Given the description of an element on the screen output the (x, y) to click on. 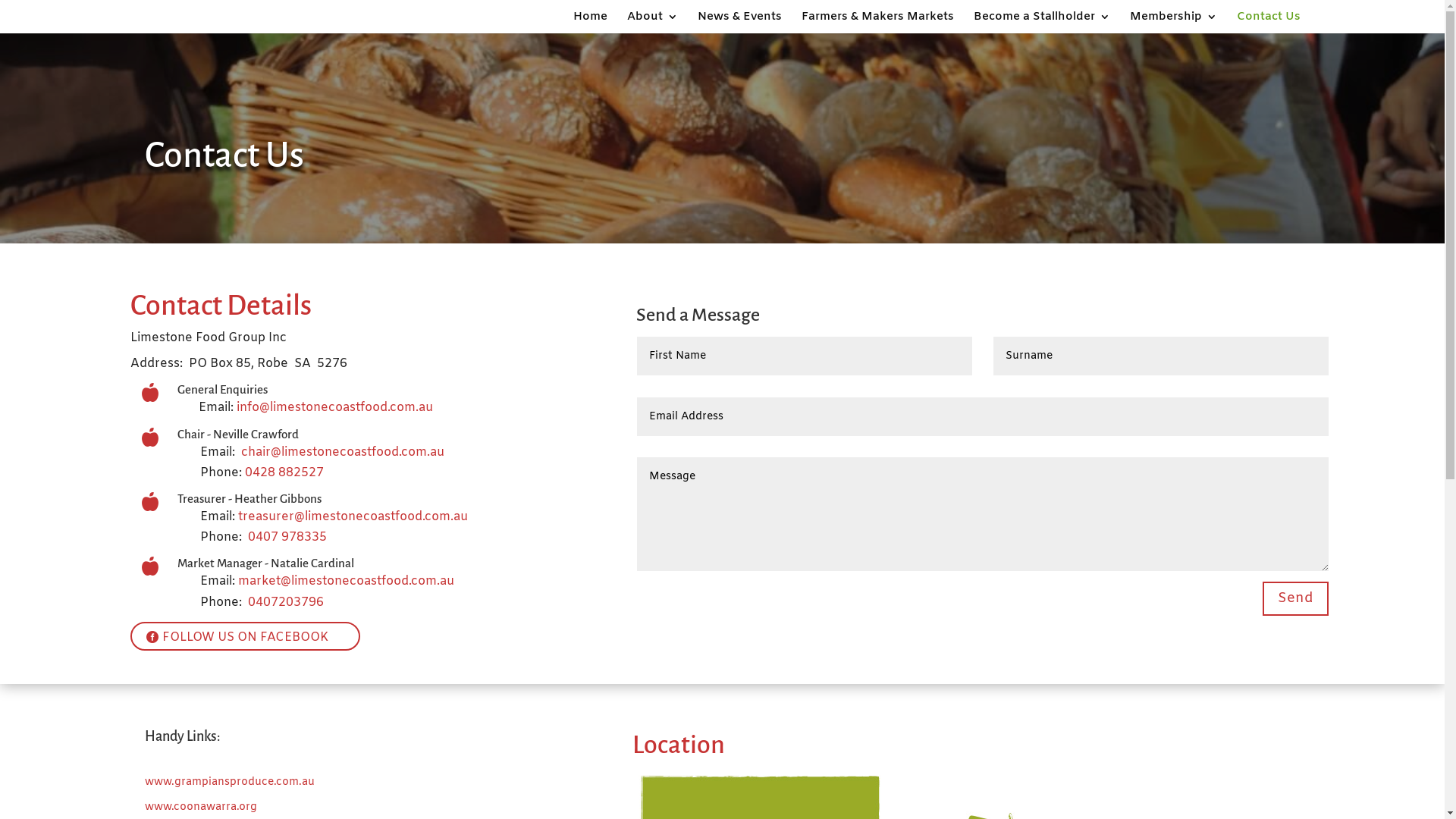
Contact Us Element type: text (1267, 22)
0428 882527 Element type: text (283, 472)
treasurer@limestonecoastfood.com.au Element type: text (352, 516)
Farmers & Makers Markets Element type: text (876, 22)
Market Manager - Natalie Cardinal Element type: text (265, 562)
Membership Element type: text (1173, 22)
www.coonawarra.org Element type: text (200, 807)
About Element type: text (651, 22)
market@limestonecoastfood.com.au Element type: text (346, 581)
0407203796 Element type: text (285, 602)
chair@limestonecoastfood.com.au Element type: text (342, 452)
Chair - Neville Crawford Element type: text (237, 433)
Treasurer - Heather Gibbons Element type: text (249, 498)
Home Element type: text (590, 22)
0407 978335 Element type: text (286, 537)
Send Element type: text (1295, 598)
www.grampiansproduce.com.au Element type: text (228, 782)
General Enquiries Element type: text (222, 388)
News & Events Element type: text (739, 22)
FOLLOW US ON FACEBOOK Element type: text (245, 635)
Become a Stallholder Element type: text (1041, 22)
info@limestonecoastfood.com.au Element type: text (334, 407)
